Given the description of an element on the screen output the (x, y) to click on. 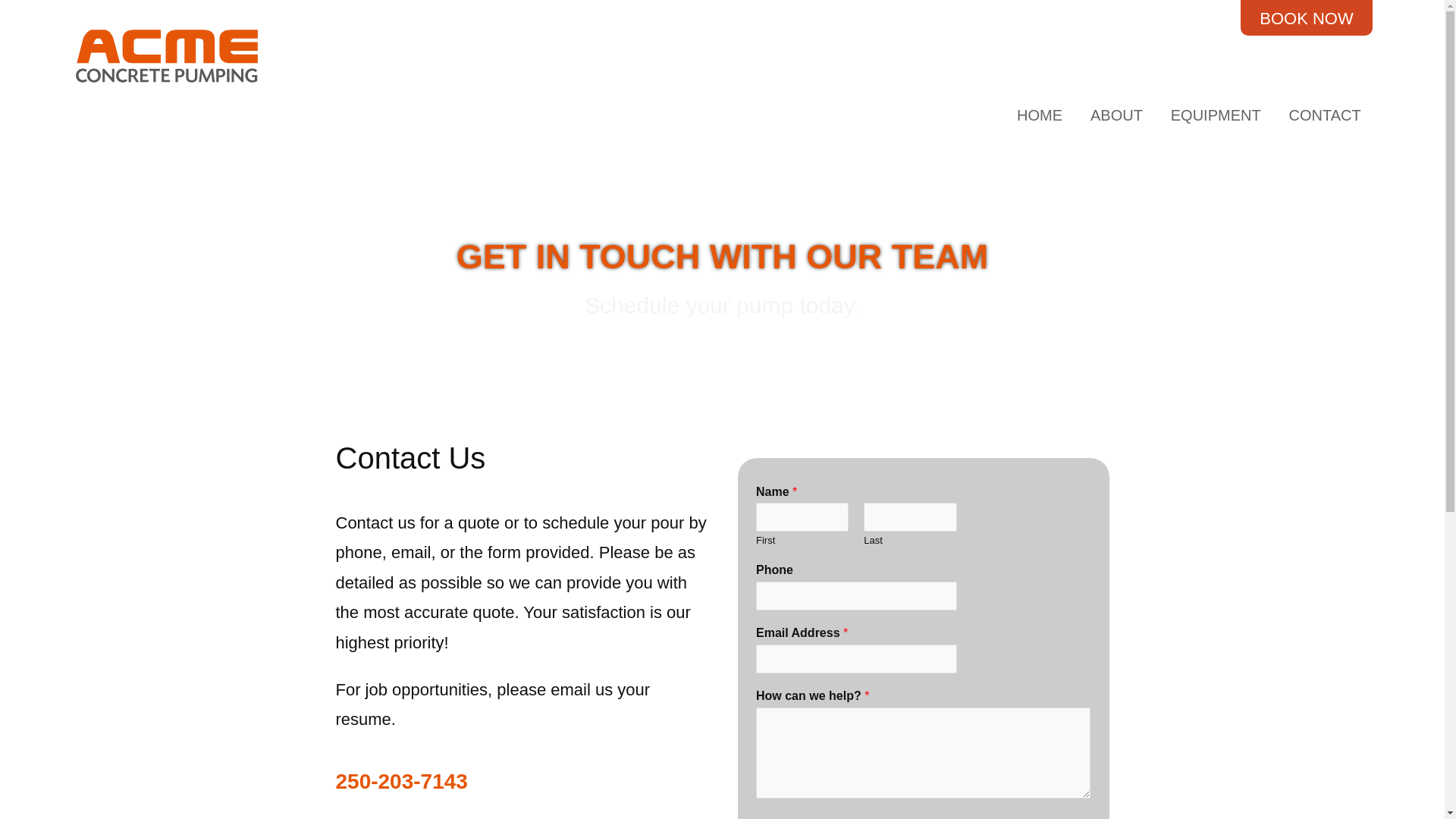
ABOUT (1116, 115)
EQUIPMENT (1215, 115)
CONTACT (1325, 115)
HOME (1040, 115)
BOOK NOW (1305, 19)
